Given the description of an element on the screen output the (x, y) to click on. 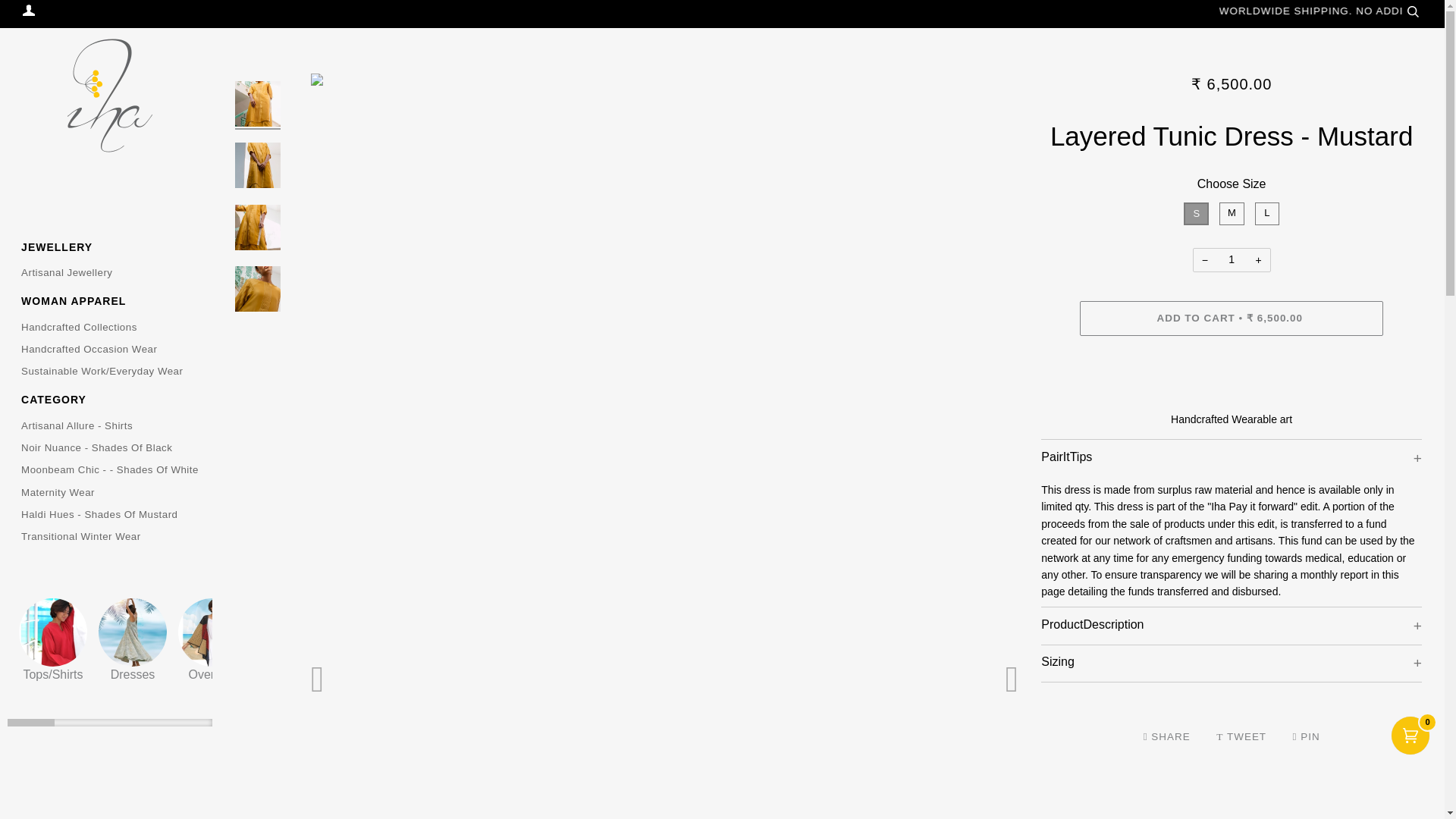
1 (1231, 259)
Search (1412, 11)
